Given the description of an element on the screen output the (x, y) to click on. 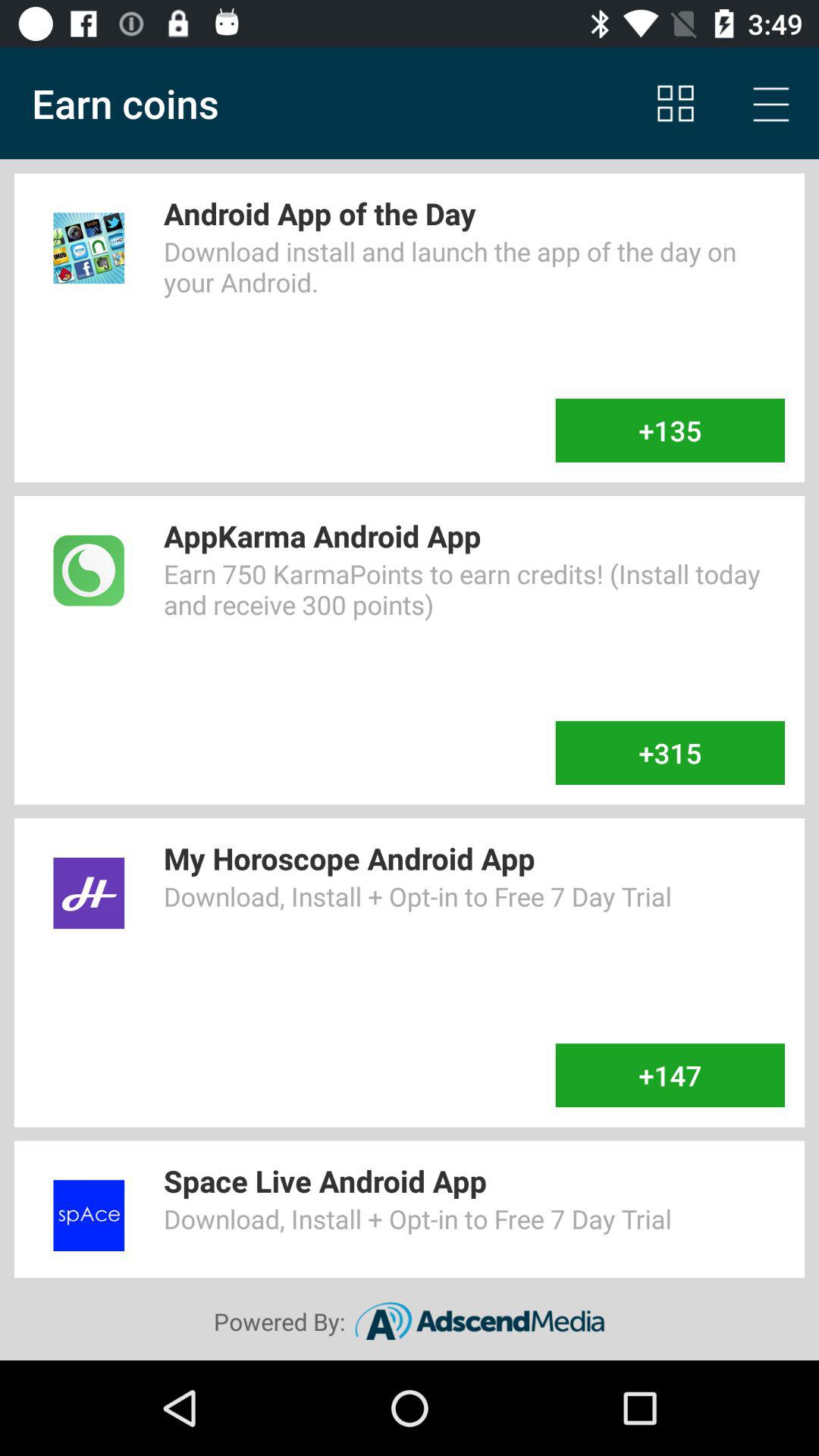
turn on icon to the right of the earn coins icon (675, 103)
